Given the description of an element on the screen output the (x, y) to click on. 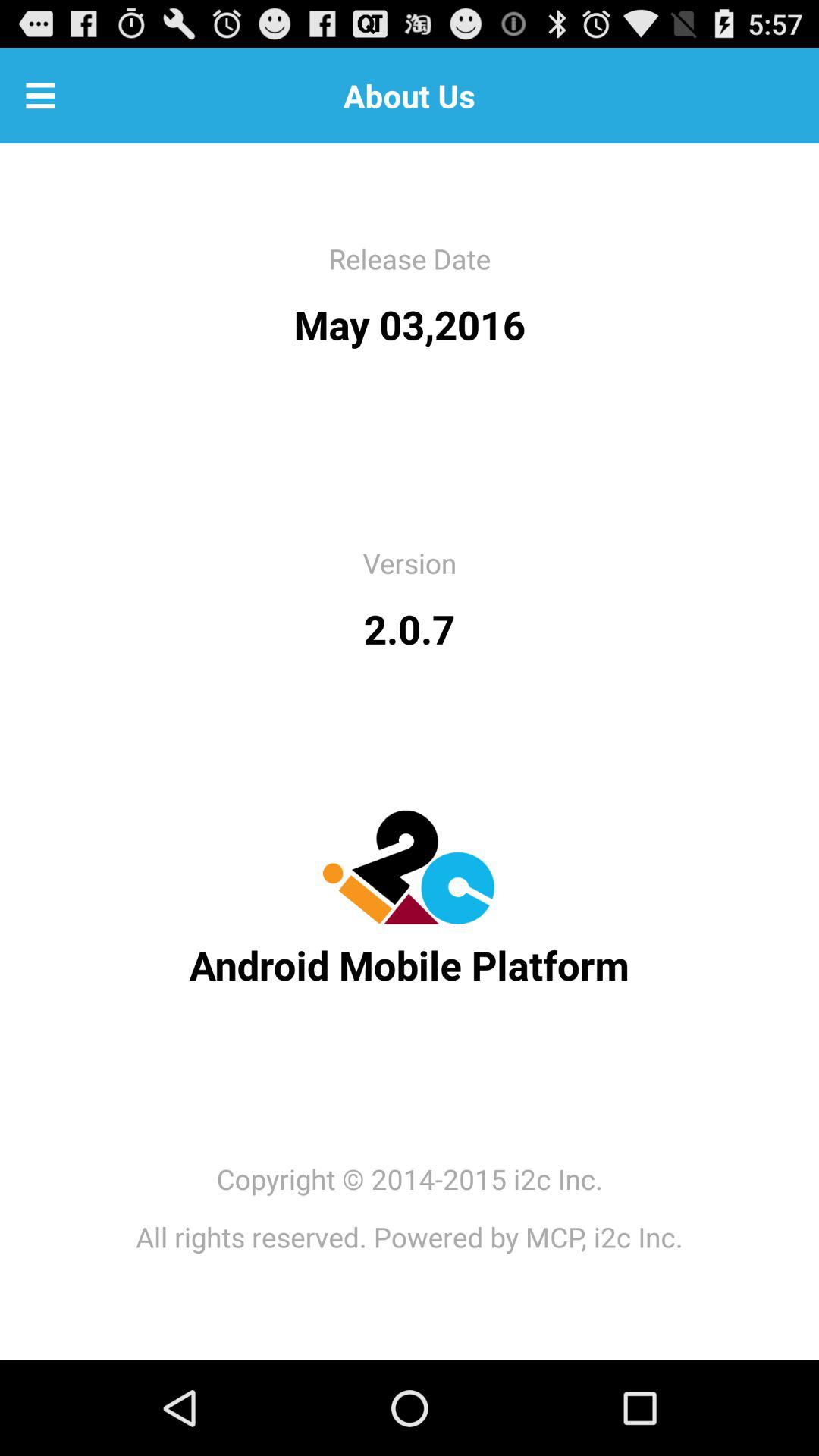
choose icon above release date icon (39, 95)
